Given the description of an element on the screen output the (x, y) to click on. 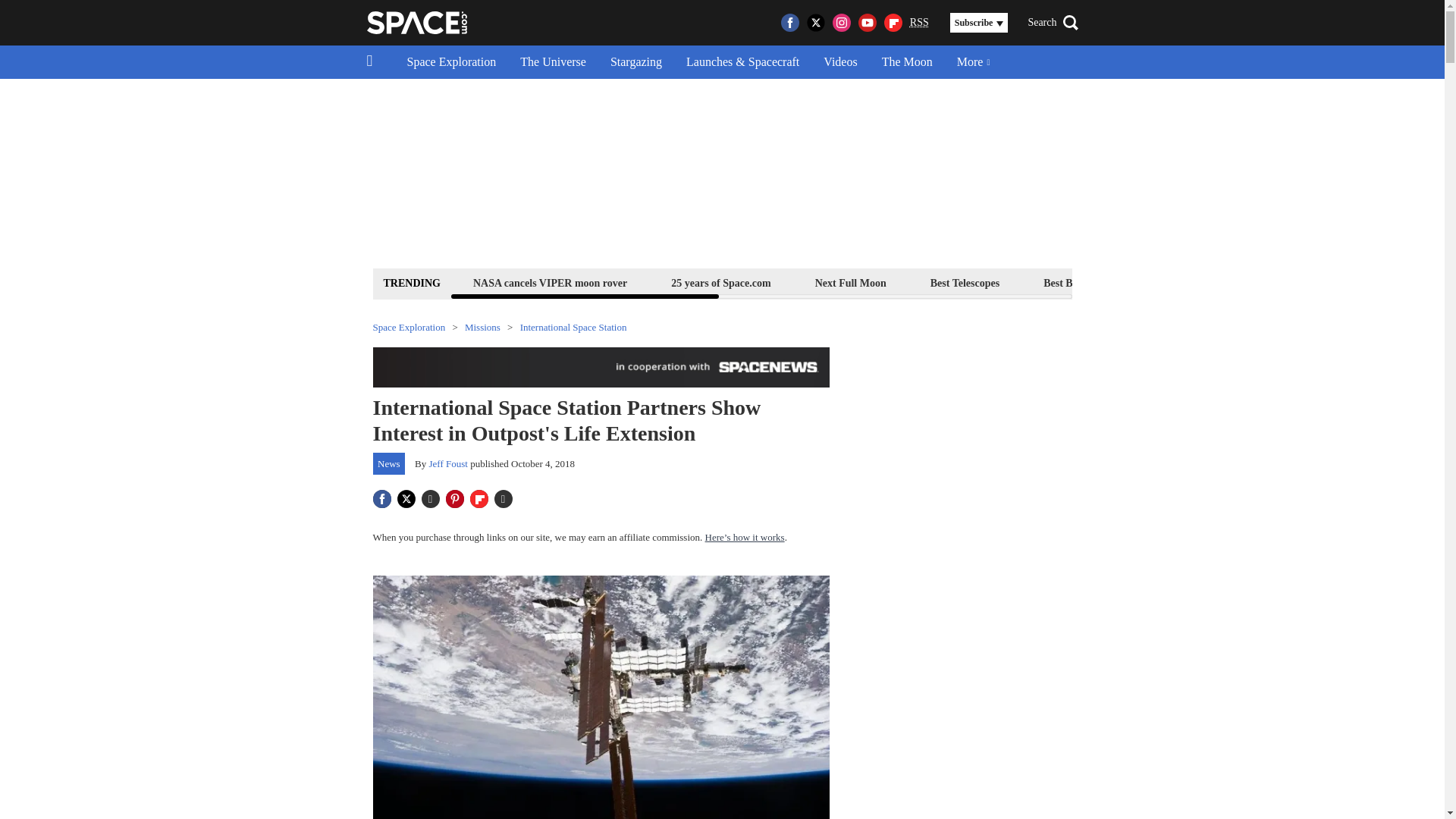
Space Exploration (451, 61)
Best Binoculars (1078, 282)
Next Full Moon (850, 282)
The Universe (553, 61)
Really Simple Syndication (919, 21)
25 years of Space.com (720, 282)
Videos (839, 61)
NASA cancels VIPER moon rover (549, 282)
Best Star Projectors (1204, 282)
Stargazing (636, 61)
The Moon (906, 61)
Space Calendar (1329, 282)
RSS (919, 22)
Best Telescopes (964, 282)
